Given the description of an element on the screen output the (x, y) to click on. 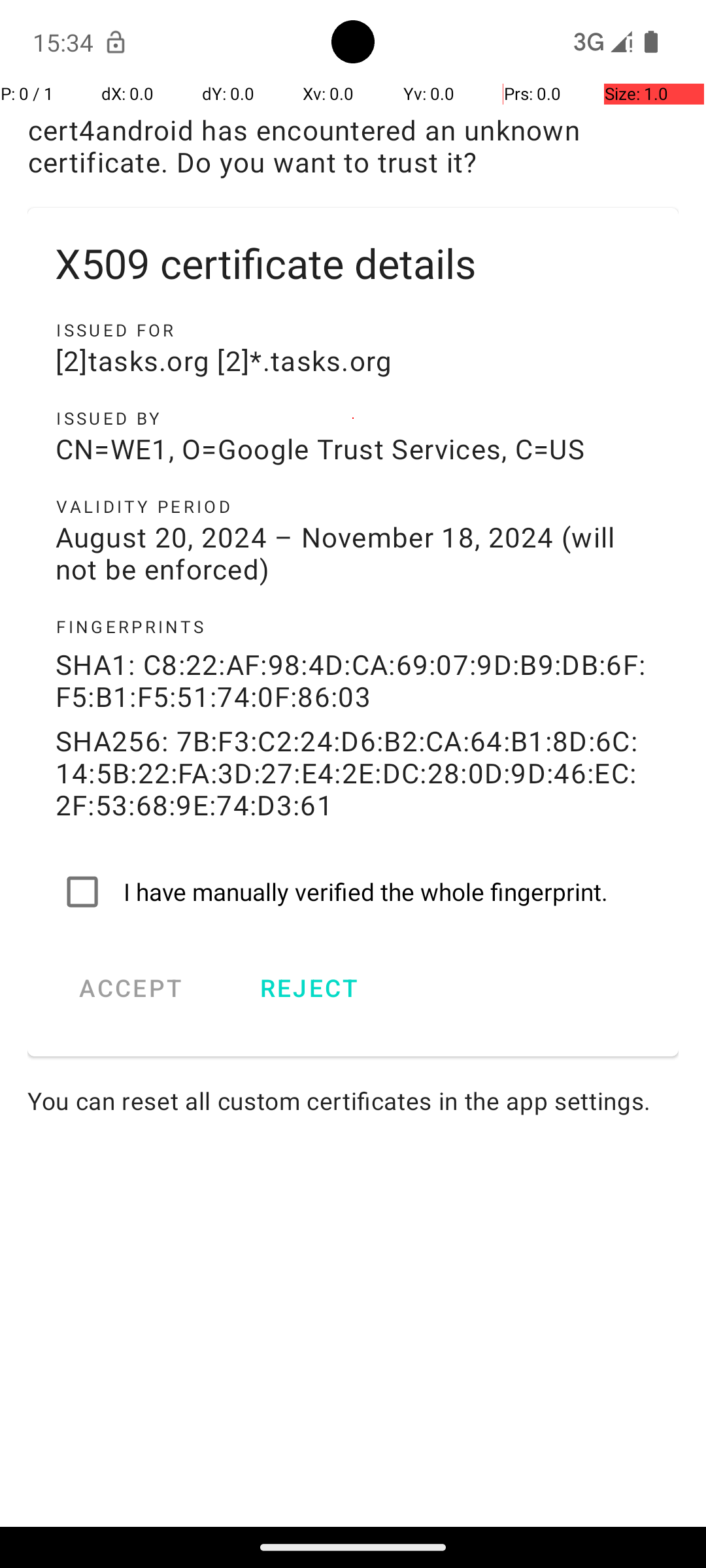
cert4android has encountered an unknown certificate. Do you want to trust it? Element type: android.widget.TextView (352, 145)
X509 certificate details Element type: android.widget.TextView (352, 262)
ISSUED FOR Element type: android.widget.TextView (352, 329)
[2]tasks.org [2]*.tasks.org  Element type: android.widget.TextView (352, 359)
ISSUED BY Element type: android.widget.TextView (352, 417)
CN=WE1, O=Google Trust Services, C=US Element type: android.widget.TextView (352, 448)
VALIDITY PERIOD Element type: android.widget.TextView (352, 506)
August 20, 2024 – November 18, 2024 (will not be enforced) Element type: android.widget.TextView (352, 552)
FINGERPRINTS Element type: android.widget.TextView (352, 626)
SHA1: C8:22:AF:98:4D:CA:69:07:9D:B9:DB:6F:F5:B1:F5:51:74:0F:86:03 Element type: android.widget.TextView (352, 679)
SHA256: 7B:F3:C2:24:D6:B2:CA:64:B1:8D:6C:14:5B:22:FA:3D:27:E4:2E:DC:28:0D:9D:46:EC:2F:53:68:9E:74:D3:61 Element type: android.widget.TextView (352, 772)
I have manually verified the whole fingerprint. Element type: android.widget.CheckBox (352, 891)
ACCEPT Element type: android.widget.Button (129, 987)
REJECT Element type: android.widget.Button (308, 987)
You can reset all custom certificates in the app settings. Element type: android.widget.TextView (352, 1100)
Tasks notification: Connection security Element type: android.widget.ImageView (115, 41)
